Given the description of an element on the screen output the (x, y) to click on. 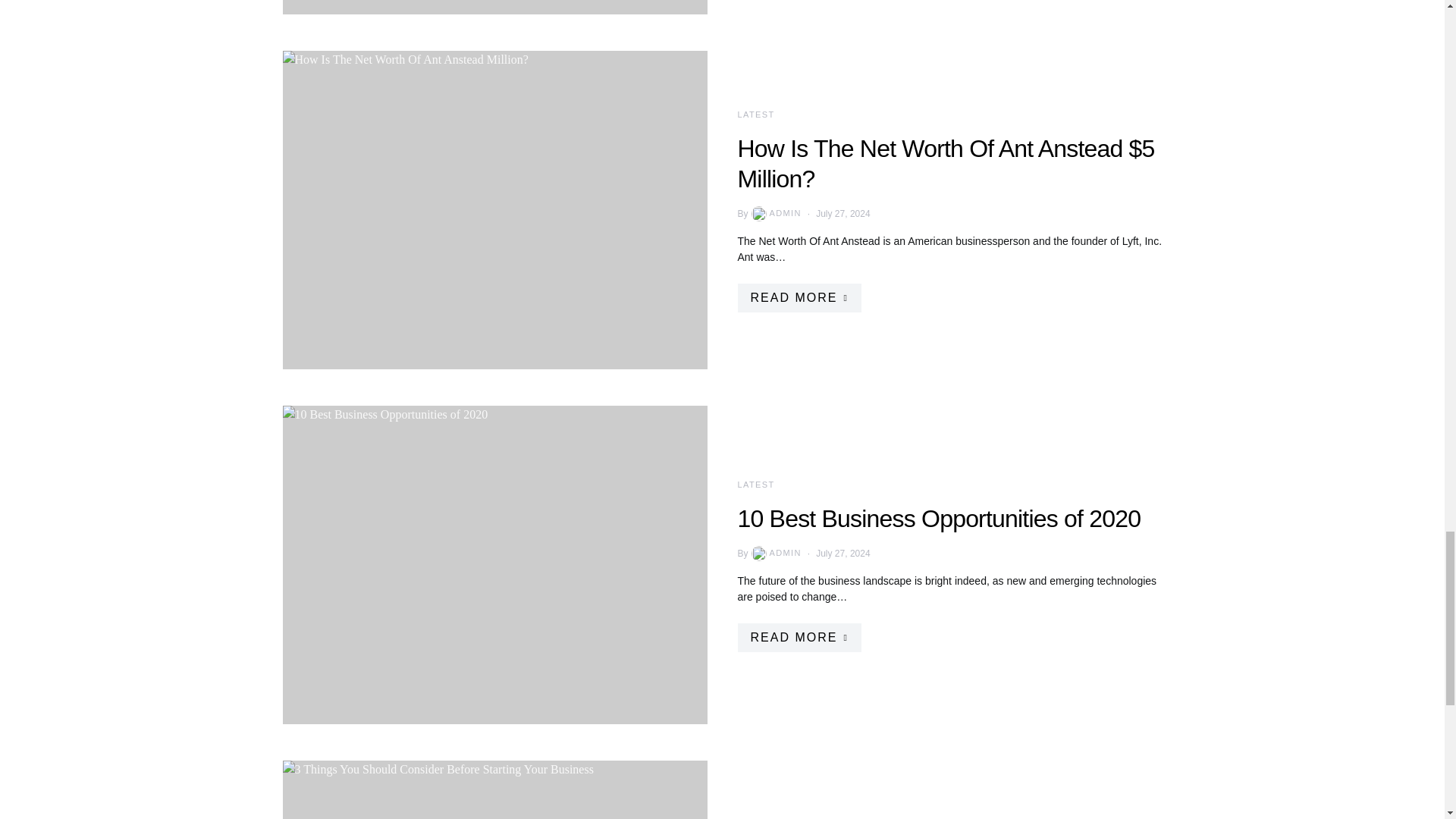
3 Things You Should Consider Before Starting Your Business (494, 789)
View all posts by admin (775, 213)
3 Phrases to Remove from Your Sales Calls Today (494, 6)
View all posts by admin (775, 553)
